Given the description of an element on the screen output the (x, y) to click on. 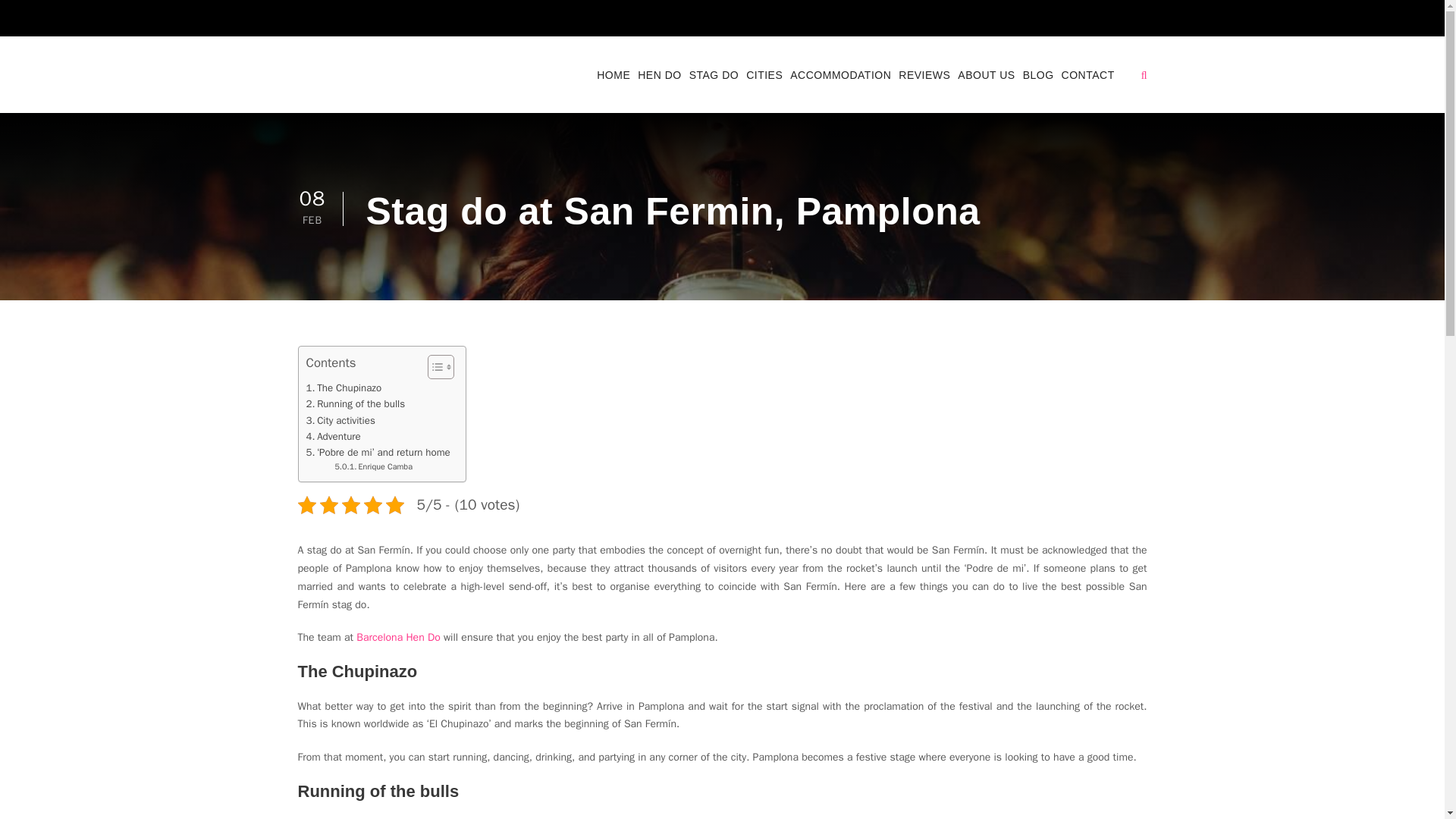
Running of the bulls (355, 403)
City activities (340, 420)
English - Barcelona Hen Do (1064, 21)
Adventure (333, 436)
Spanish - Despedidas de soltera y soltero en Barcelona (1098, 21)
The Chupinazo (343, 387)
